Given the description of an element on the screen output the (x, y) to click on. 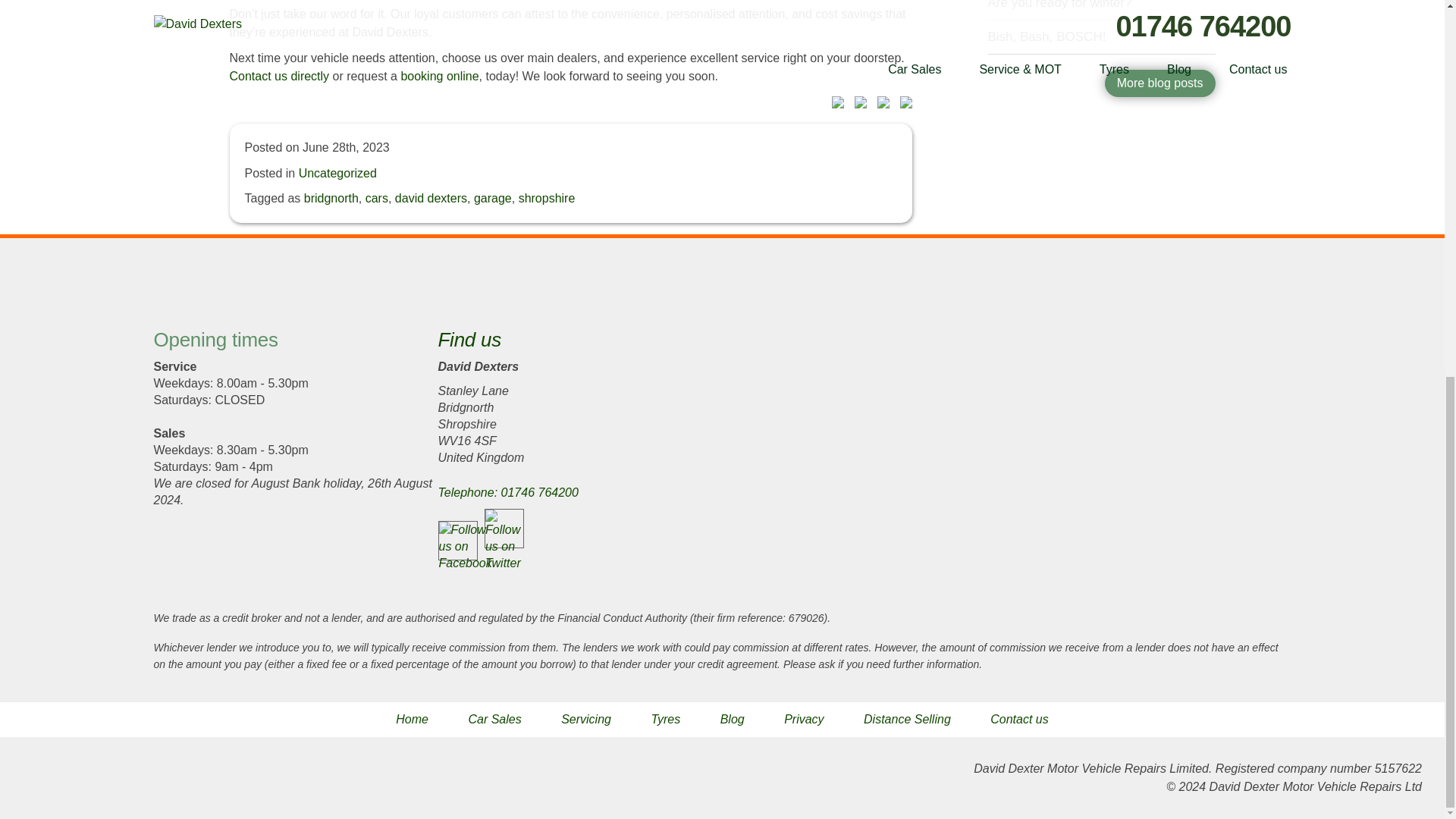
cars (376, 197)
Uncategorized (337, 173)
Share by email (902, 105)
booking online (439, 75)
Contact us directly (278, 75)
Share on Twitter (856, 105)
bridgnorth (331, 197)
Share on Linkedin (879, 105)
Share on Facebook (834, 105)
